Given the description of an element on the screen output the (x, y) to click on. 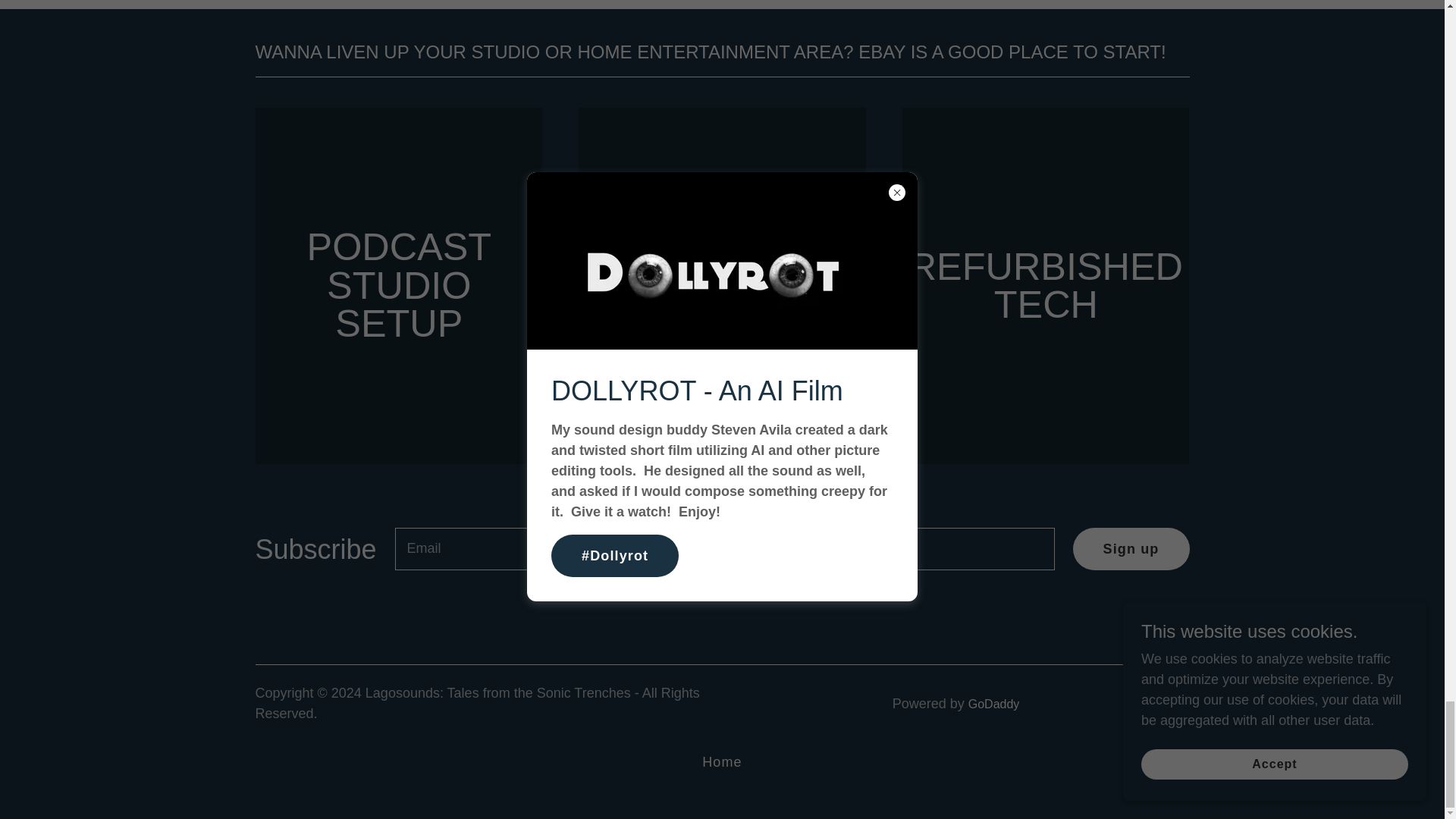
GoDaddy (994, 703)
Home (721, 762)
Sign up (1131, 548)
